Given the description of an element on the screen output the (x, y) to click on. 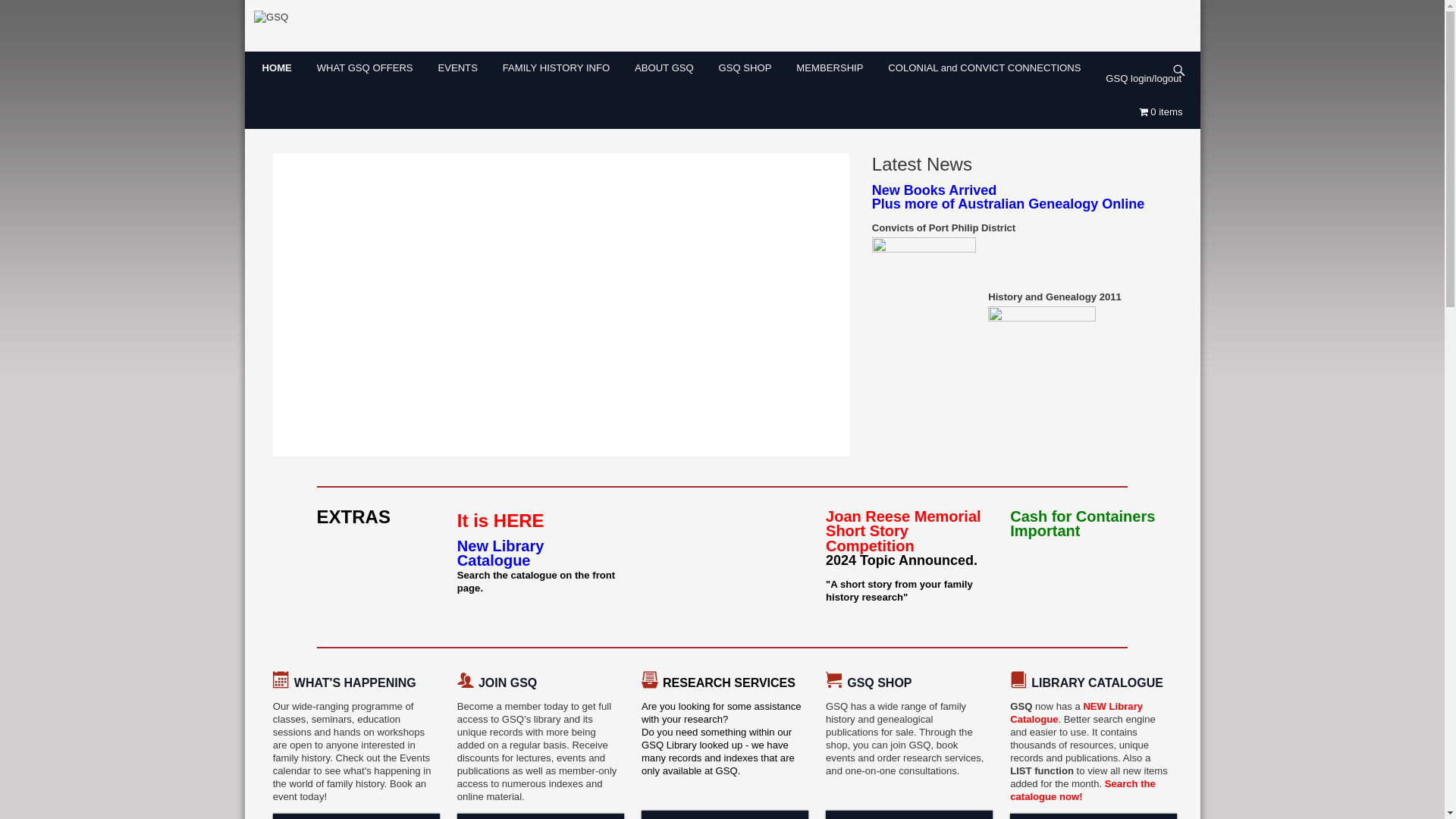
Cash for Containers Important Element type: text (1082, 525)
MEMBERSHIP Element type: text (834, 68)
FAMILY HISTORY INFO Element type: text (561, 68)
GSQ login/logout Element type: text (1148, 78)
HOME Element type: text (281, 68)
RESEARCH SERVICES Element type: text (728, 680)
0 items Element type: text (1165, 111)
WHAT GSQ OFFERS Element type: text (369, 68)
WHAT'S HAPPENING Element type: text (355, 683)
COLONIAL and CONVICT CONNECTIONS Element type: text (989, 68)
GSQ SHOP Element type: text (750, 68)
Joan Reese Memorial Short Story Competition Element type: text (903, 532)
GSQ SHOP Element type: text (879, 683)
ABOUT GSQ Element type: text (669, 68)
EVENTS Element type: text (462, 68)
Australian Genealogy Online Element type: text (1050, 203)
JOIN GSQ Element type: text (507, 683)
LIBRARY CATALOGUE Element type: text (1097, 683)
